Given the description of an element on the screen output the (x, y) to click on. 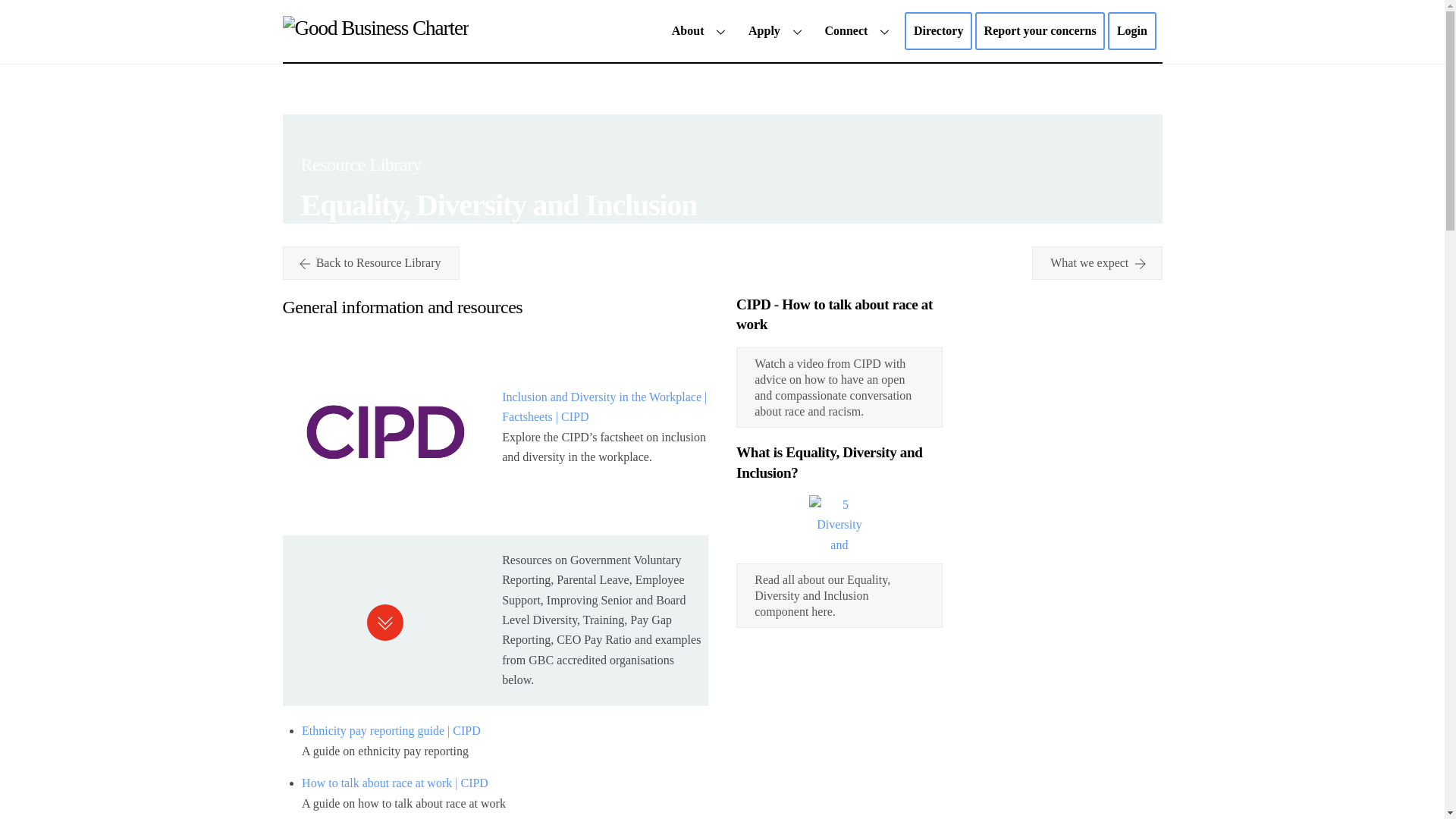
About (700, 30)
What we expect (1096, 263)
Report your concerns (1039, 30)
Apply (777, 30)
Good Business Charter (374, 27)
Directory (721, 30)
Login (938, 30)
Back to Resource Library (1131, 30)
Connect (370, 263)
